Given the description of an element on the screen output the (x, y) to click on. 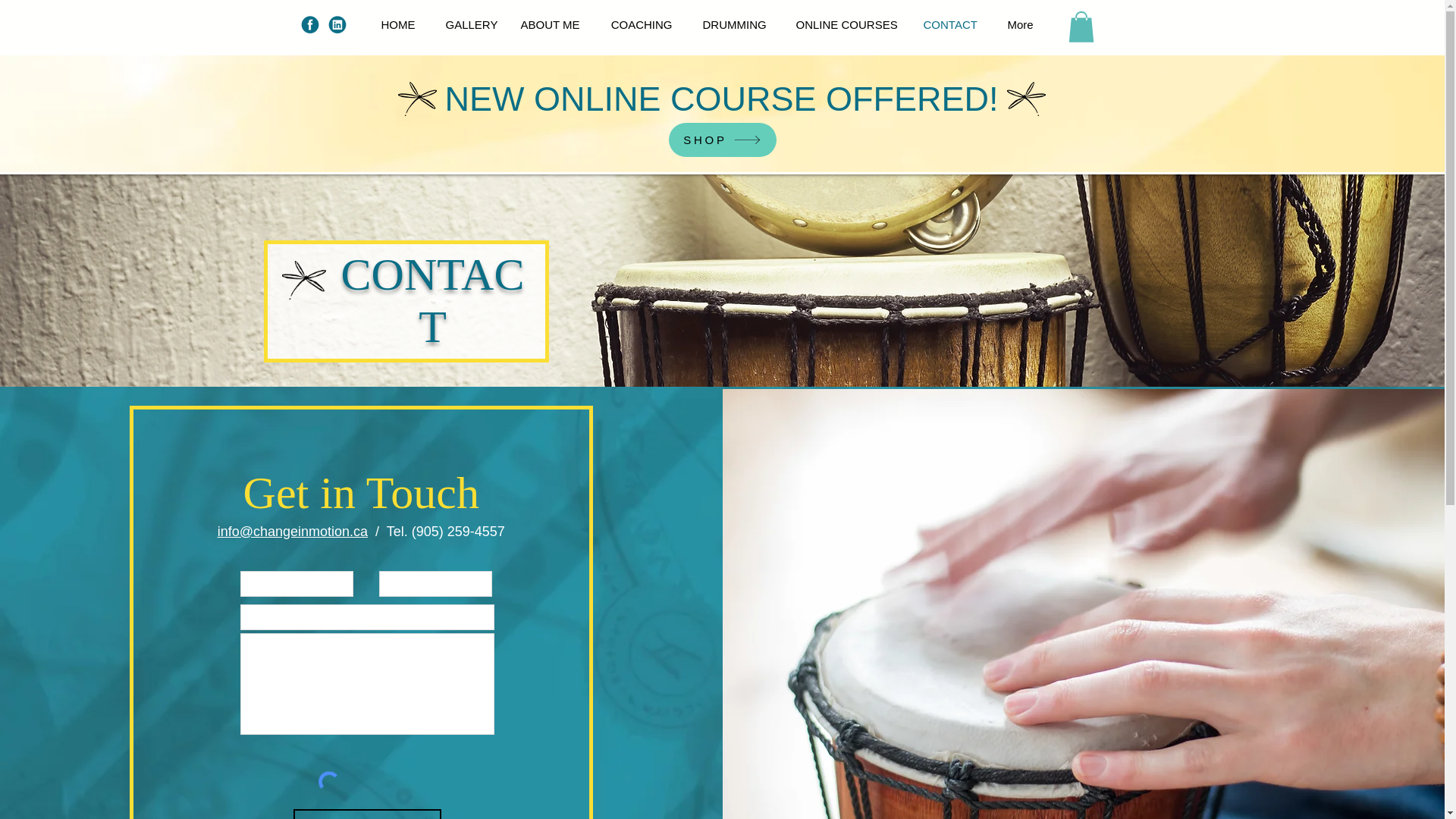
HOME (397, 24)
GALLERY (467, 24)
SHOP (722, 139)
ABOUT ME (548, 24)
ONLINE COURSES (844, 24)
CONTACT (950, 24)
Submit (367, 814)
DRUMMING (733, 24)
COACHING (639, 24)
Darias-Dragonfly.gif.gif (304, 280)
